Given the description of an element on the screen output the (x, y) to click on. 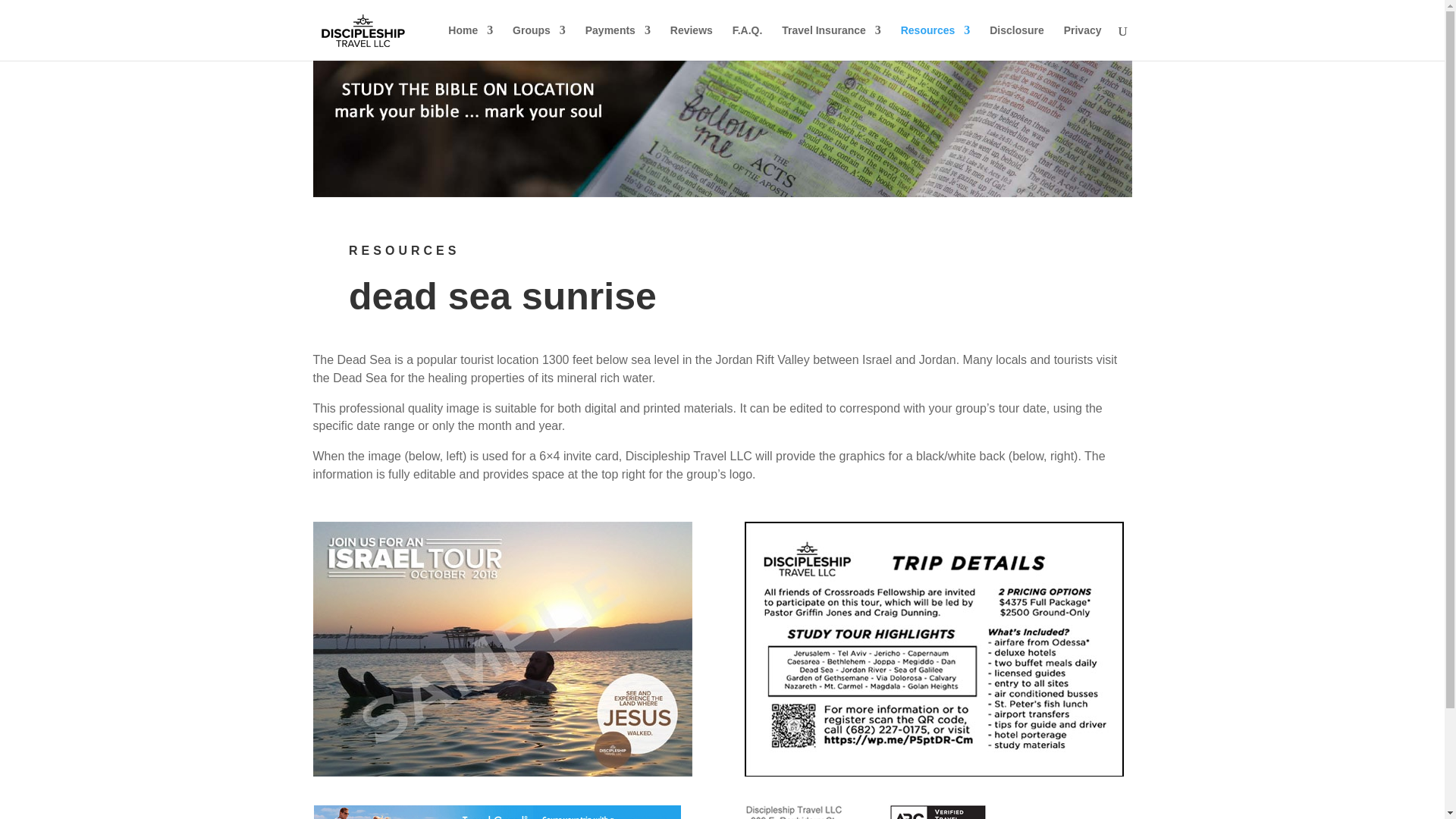
study-bible-header-1600x267 (722, 128)
Groups (539, 42)
Home (470, 42)
Travel Insurance (830, 42)
F.A.Q. (747, 42)
Reviews (691, 42)
Resources (936, 42)
Payments (617, 42)
